Given the description of an element on the screen output the (x, y) to click on. 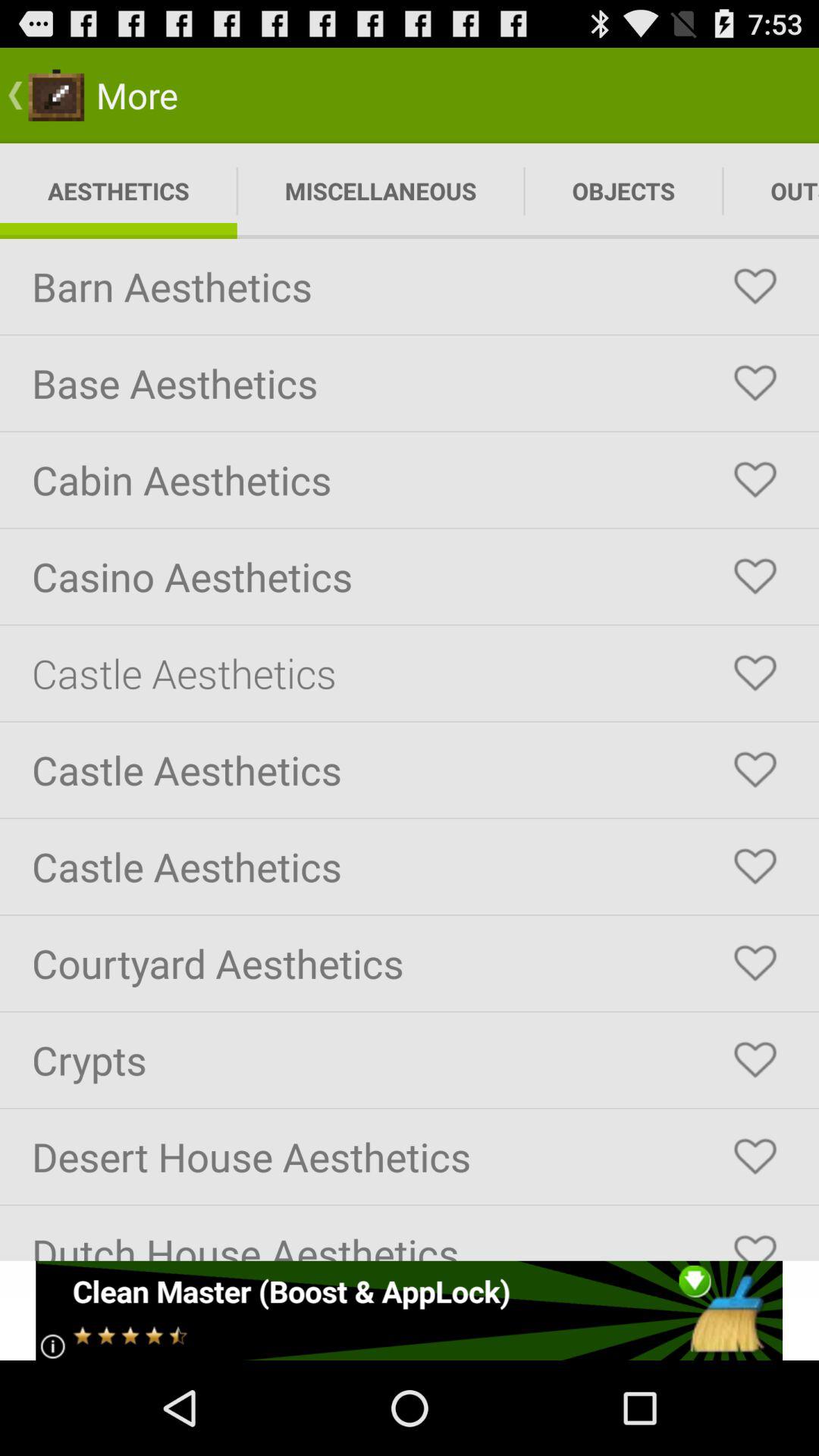
favorite the base aesthetic (755, 383)
